Given the description of an element on the screen output the (x, y) to click on. 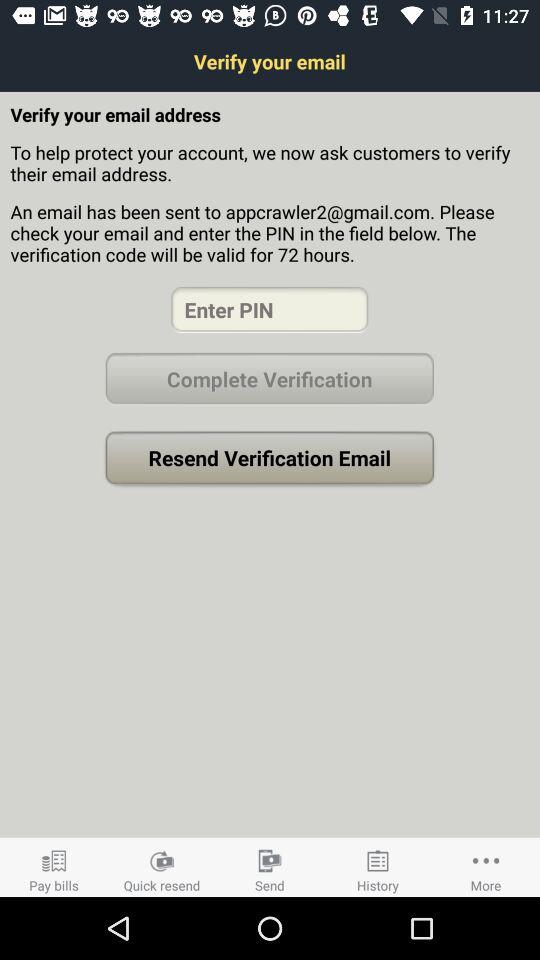
enter pin (269, 309)
